Given the description of an element on the screen output the (x, y) to click on. 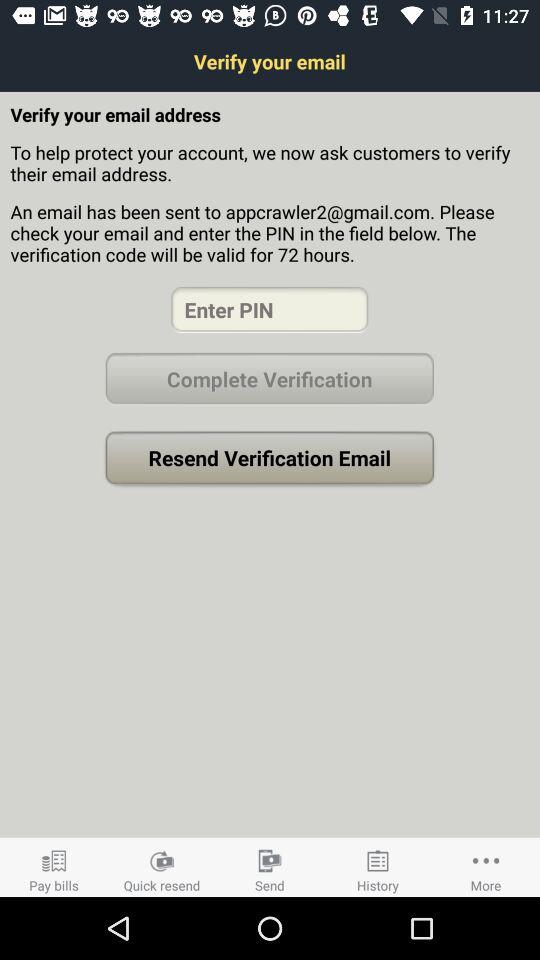
enter pin (269, 309)
